Given the description of an element on the screen output the (x, y) to click on. 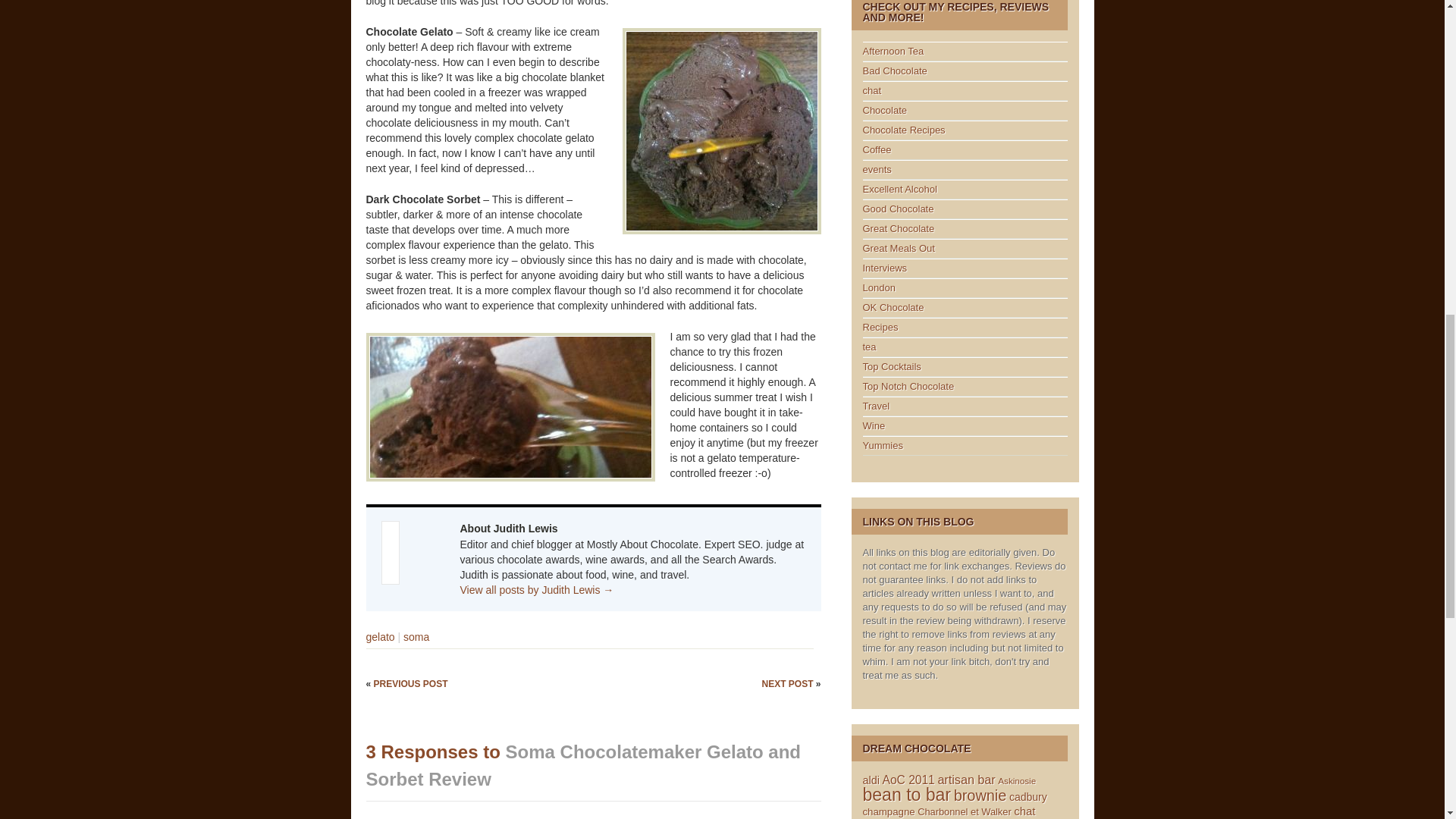
gelato (379, 636)
PREVIOUS POST (411, 683)
NEXT POST (788, 683)
soma sorbet (509, 406)
Afternoon Tea (893, 50)
Bad Chocolate (895, 70)
Chocolate Recipes (903, 129)
chat (872, 90)
soma (416, 636)
gelato sorbet split (721, 130)
